Given the description of an element on the screen output the (x, y) to click on. 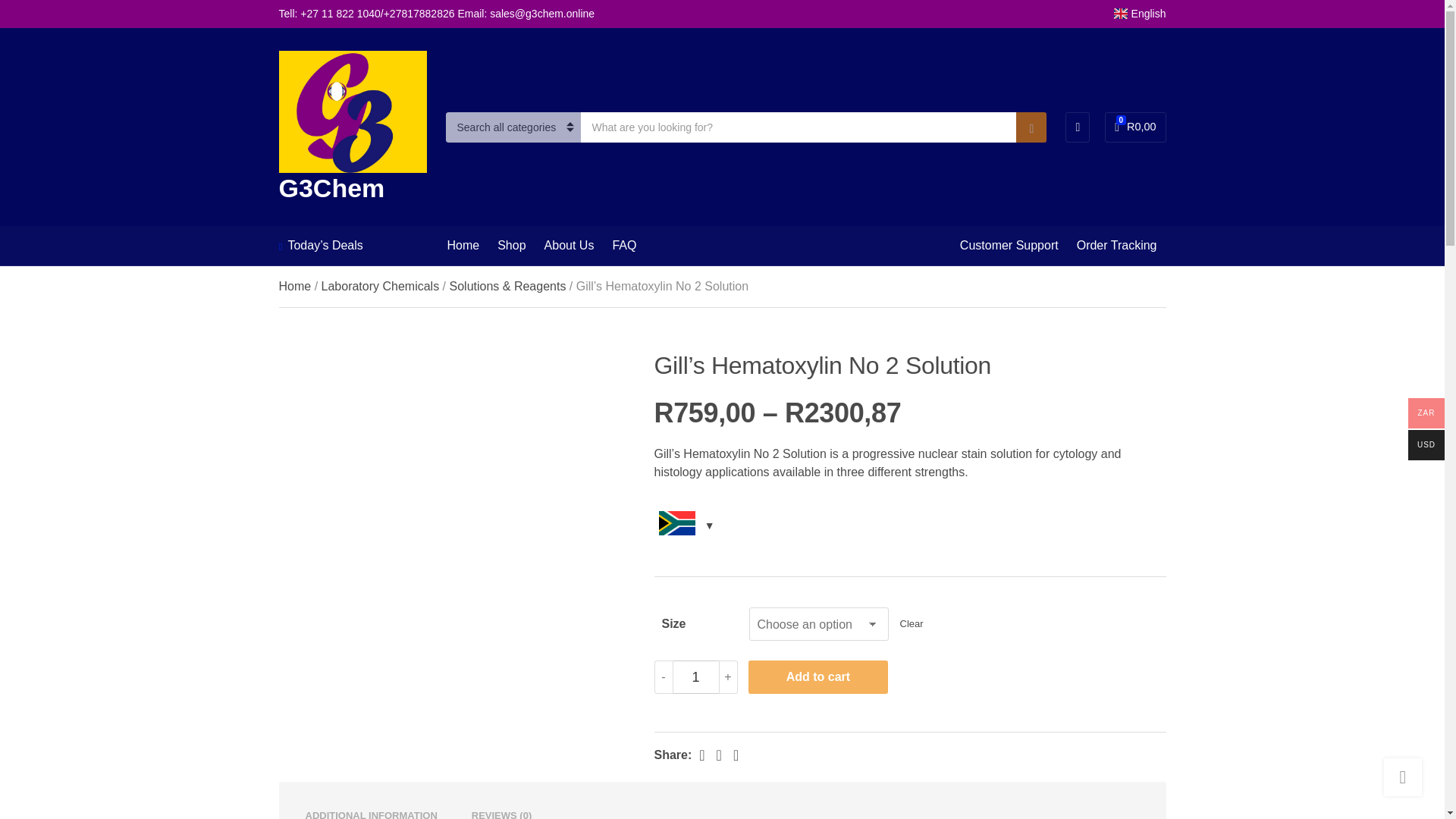
Clear (911, 624)
Order Tracking (1117, 245)
ADDITIONAL INFORMATION (1135, 127)
Search (370, 813)
Laboratory Chemicals (1031, 127)
English (380, 286)
About Us (1139, 13)
Customer Support (569, 245)
Please select your currency (1008, 245)
